Given the description of an element on the screen output the (x, y) to click on. 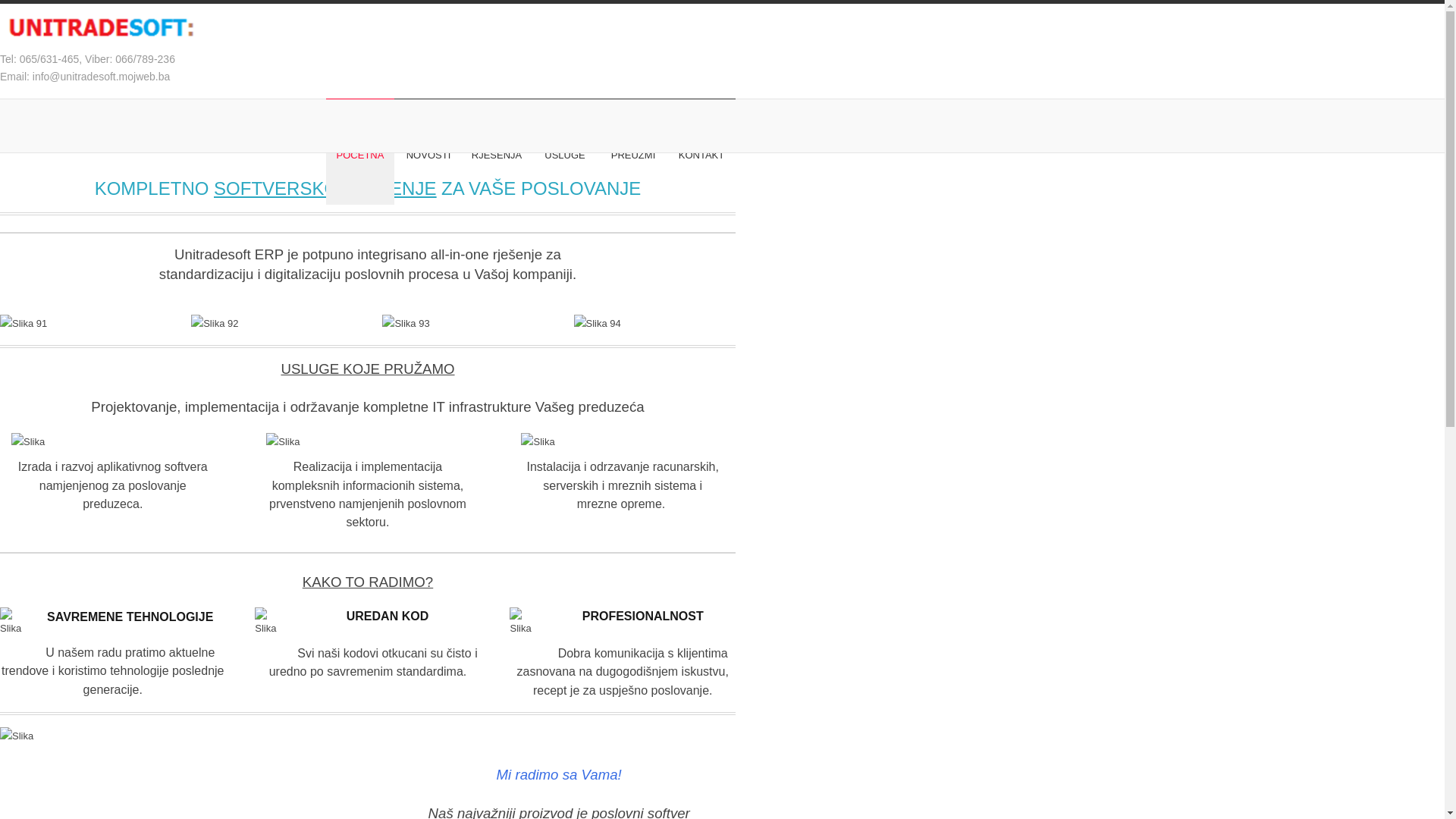
KONTAKT Element type: text (701, 154)
PREUZMI Element type: text (633, 154)
NOVOSTI Element type: text (428, 154)
USLUGE Element type: text (564, 154)
RJESENJA Element type: text (496, 154)
